Given the description of an element on the screen output the (x, y) to click on. 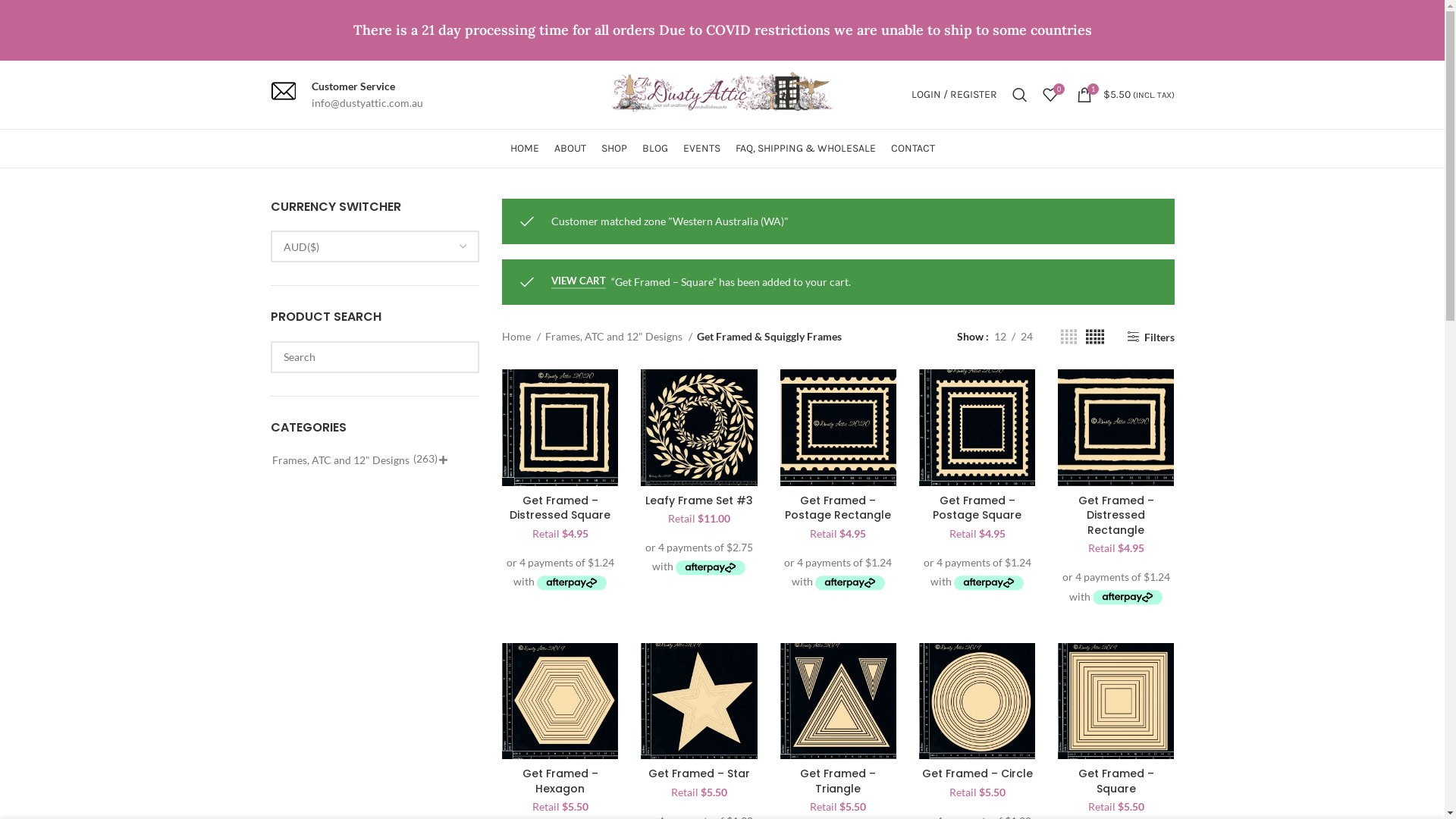
HOME Element type: text (523, 148)
FAQ, SHIPPING & WHOLESALE Element type: text (805, 148)
EVENTS Element type: text (700, 148)
Frames, ATC and 12" Designs Element type: text (618, 336)
Search Element type: hover (1019, 94)
Filters Element type: text (1149, 336)
Home Element type: text (521, 336)
Frames, ATC and 12" Designs Element type: text (339, 458)
VIEW CART Element type: text (578, 281)
ABOUT Element type: text (569, 148)
1
$5.50 (INCL. TAX) Element type: text (1125, 94)
SHOP Element type: text (613, 148)
mailicon Element type: hover (282, 90)
24 Element type: text (1026, 336)
CONTACT Element type: text (912, 148)
Leafy Frame Set #3 Element type: text (699, 500)
Log in Element type: text (871, 335)
0 Element type: text (1049, 94)
LOGIN / REGISTER Element type: text (953, 94)
12 Element type: text (999, 336)
BLOG Element type: text (654, 148)
